Given the description of an element on the screen output the (x, y) to click on. 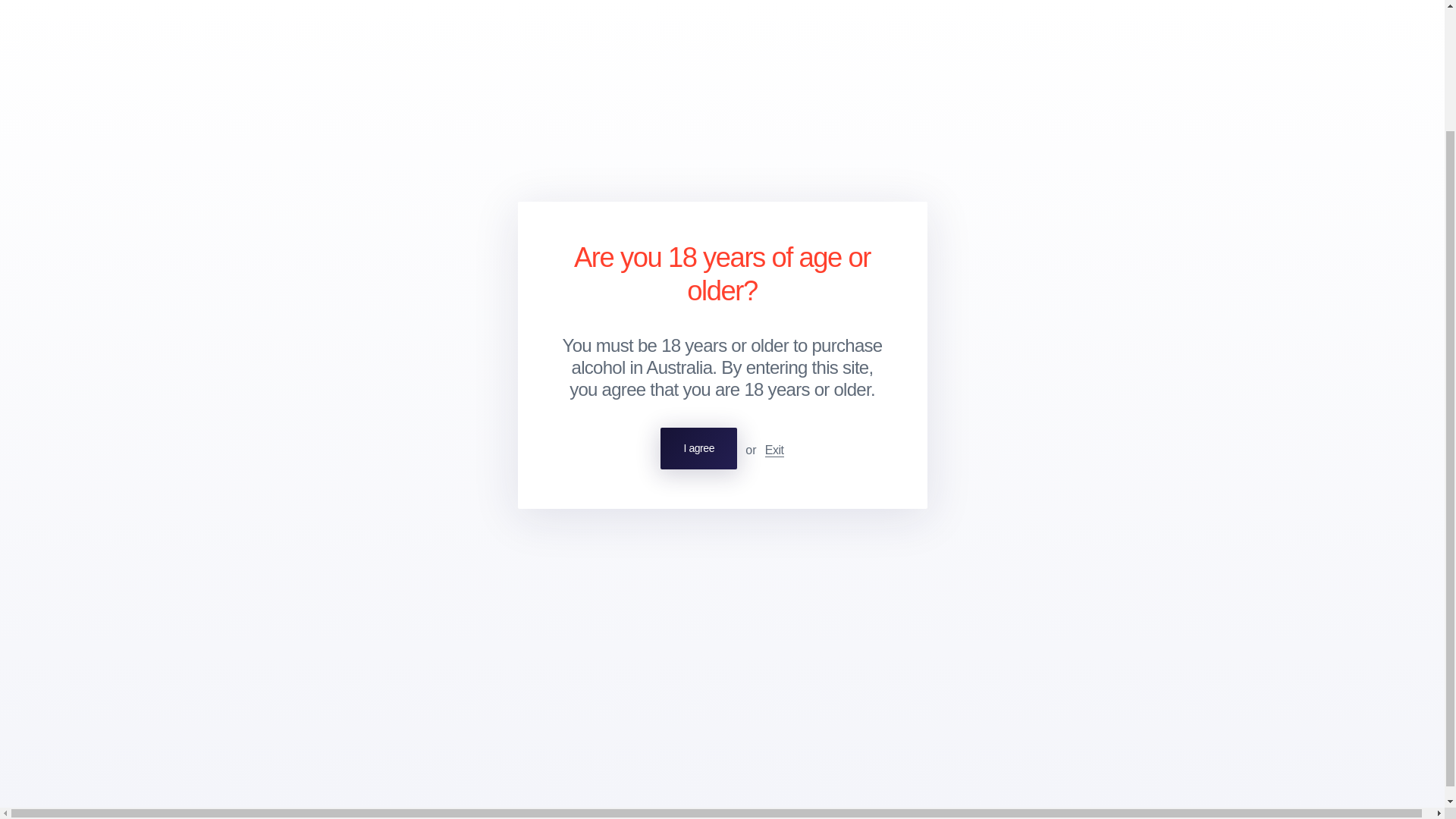
- (274, 320)
JULIEN PINEAU (294, 115)
Tasting notes (369, 199)
Sold out (472, 320)
Wine details (289, 199)
Exit (774, 301)
I agree (698, 300)
1 (316, 320)
Julien Pineau (334, 441)
